Given the description of an element on the screen output the (x, y) to click on. 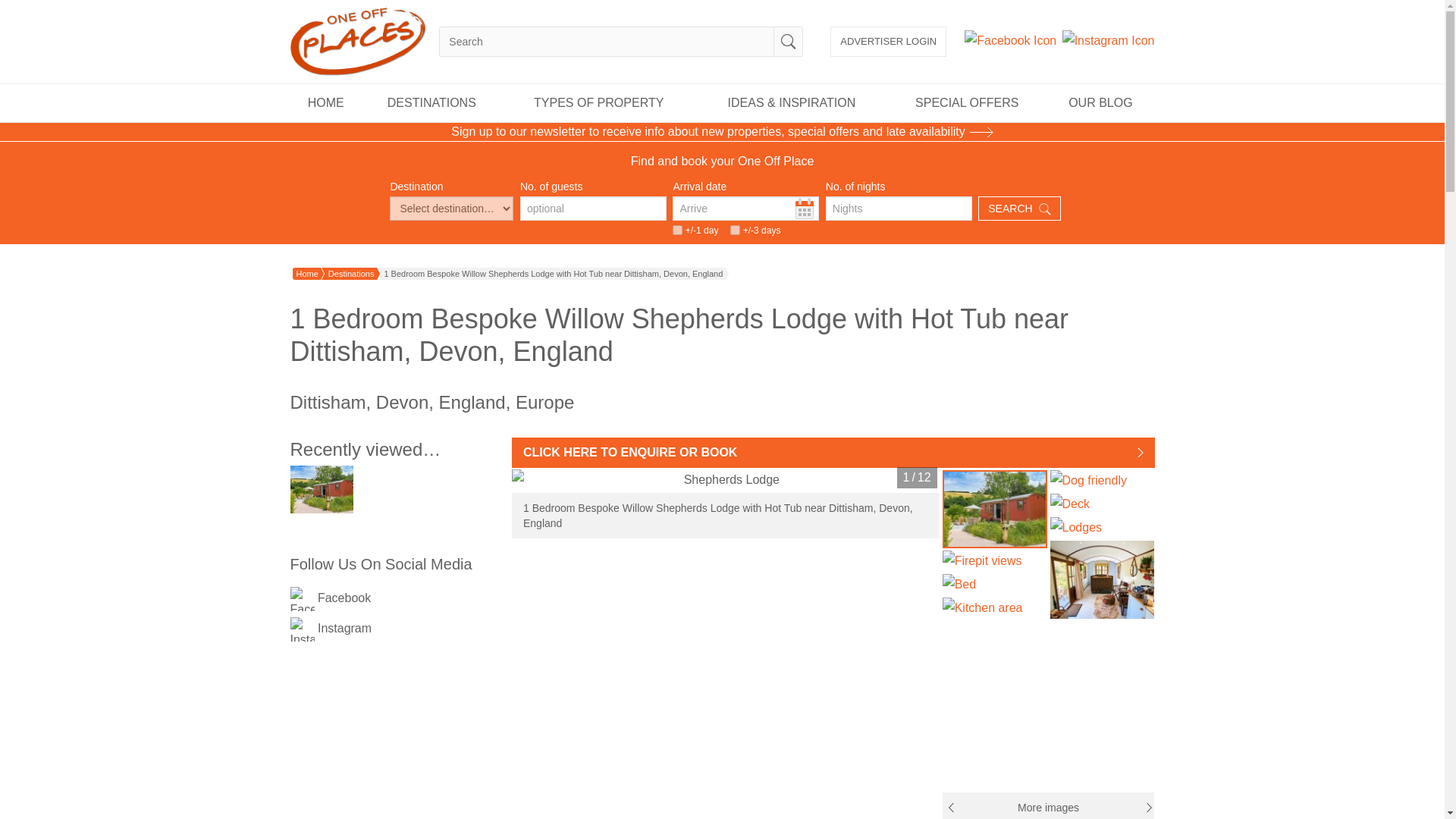
Follow us on Instagram (301, 629)
Shepherds Lodge (725, 479)
Firepit views (994, 560)
Shepherds Lodge (994, 508)
ADVERTISER LOGIN (887, 41)
Bed (994, 584)
Follow us on Facebook (1010, 40)
Follow us on Instagram (1108, 40)
Follow us on Facebook (301, 598)
Search (788, 41)
